Given the description of an element on the screen output the (x, y) to click on. 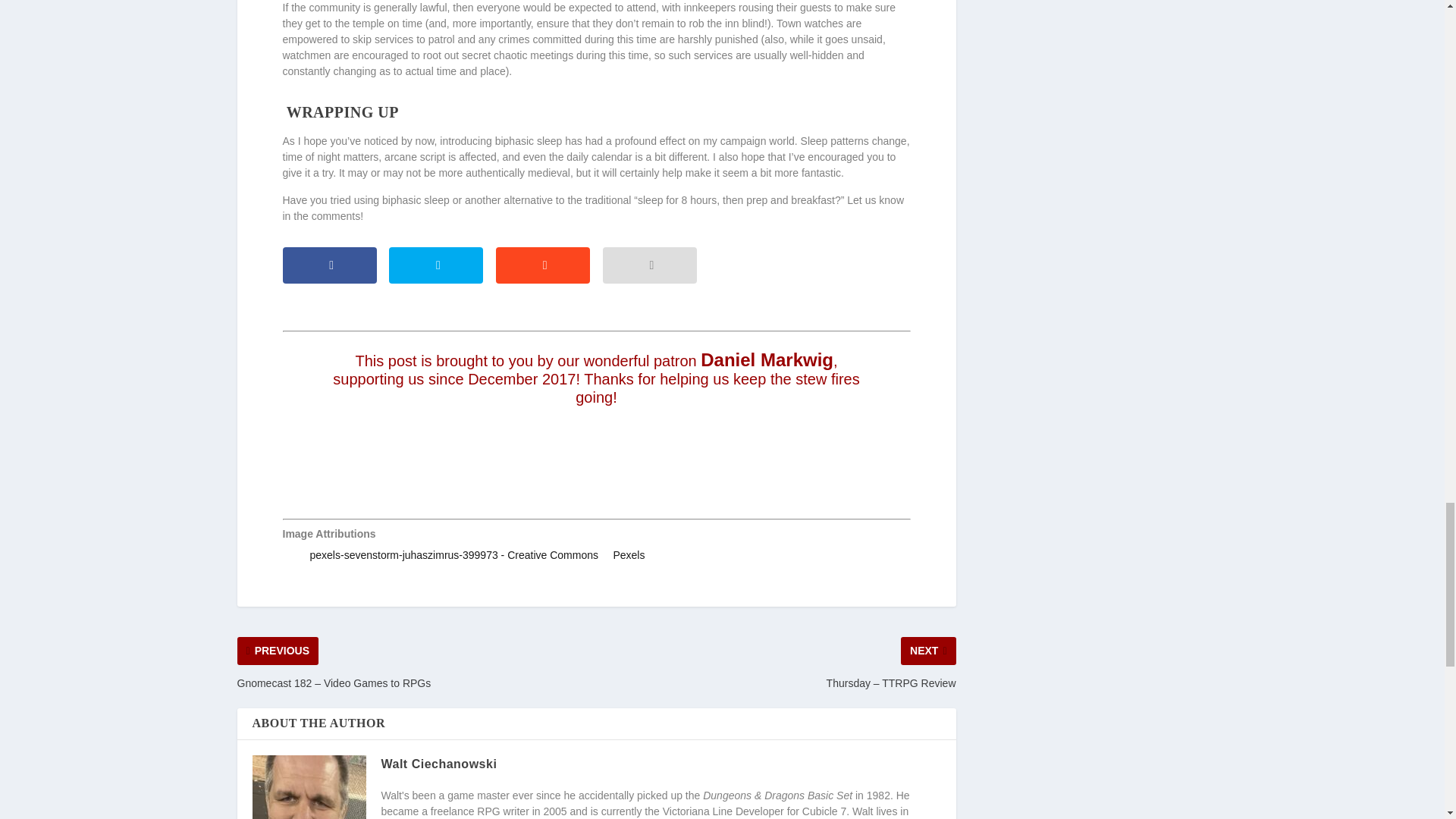
View all posts by Walt Ciechanowski (438, 763)
